Given the description of an element on the screen output the (x, y) to click on. 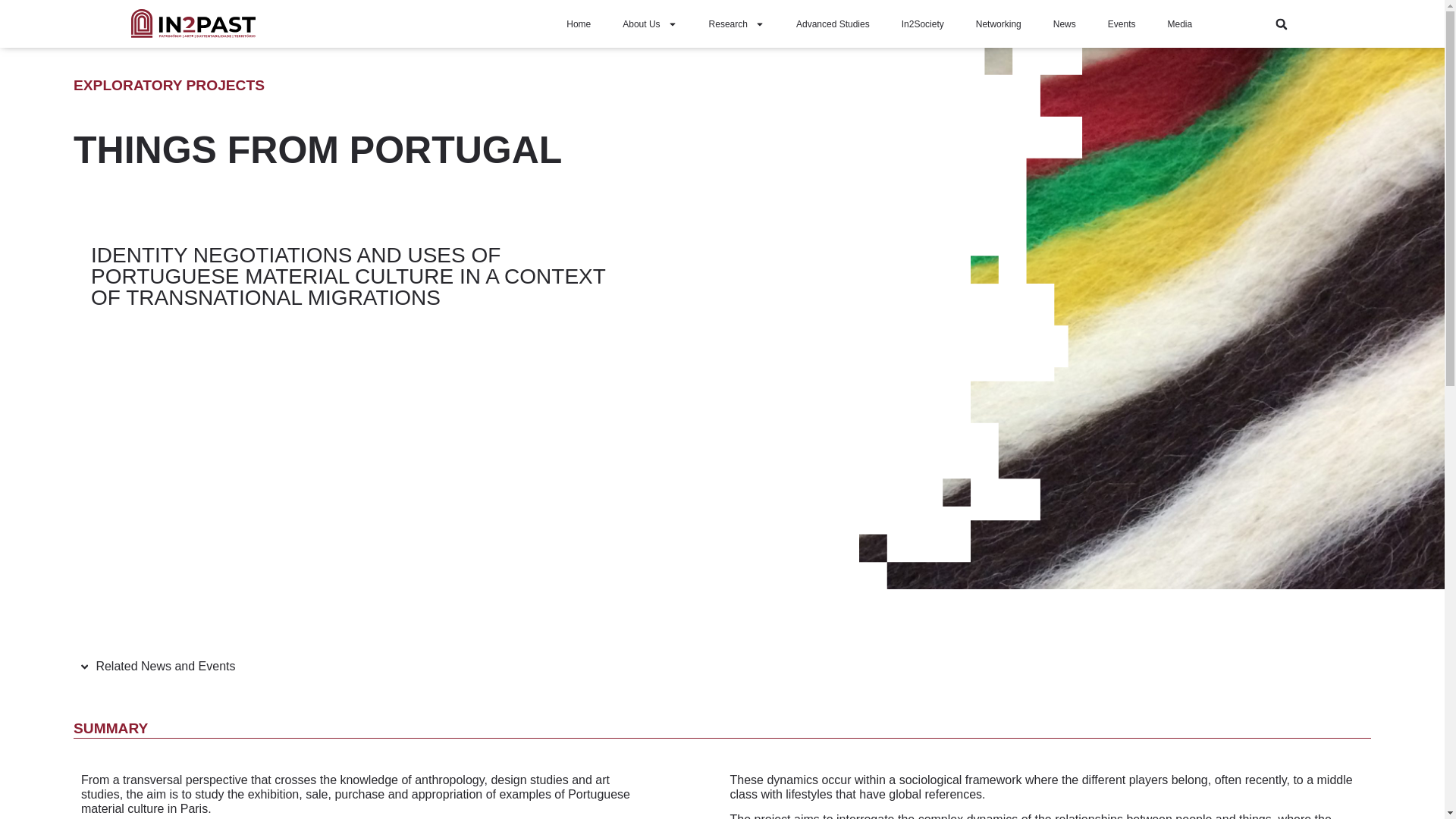
Events (1121, 24)
About Us (650, 24)
In2Society (922, 24)
Advanced Studies (832, 24)
Home (578, 24)
Networking (997, 24)
Media (1179, 24)
News (1064, 24)
Research (736, 24)
